Given the description of an element on the screen output the (x, y) to click on. 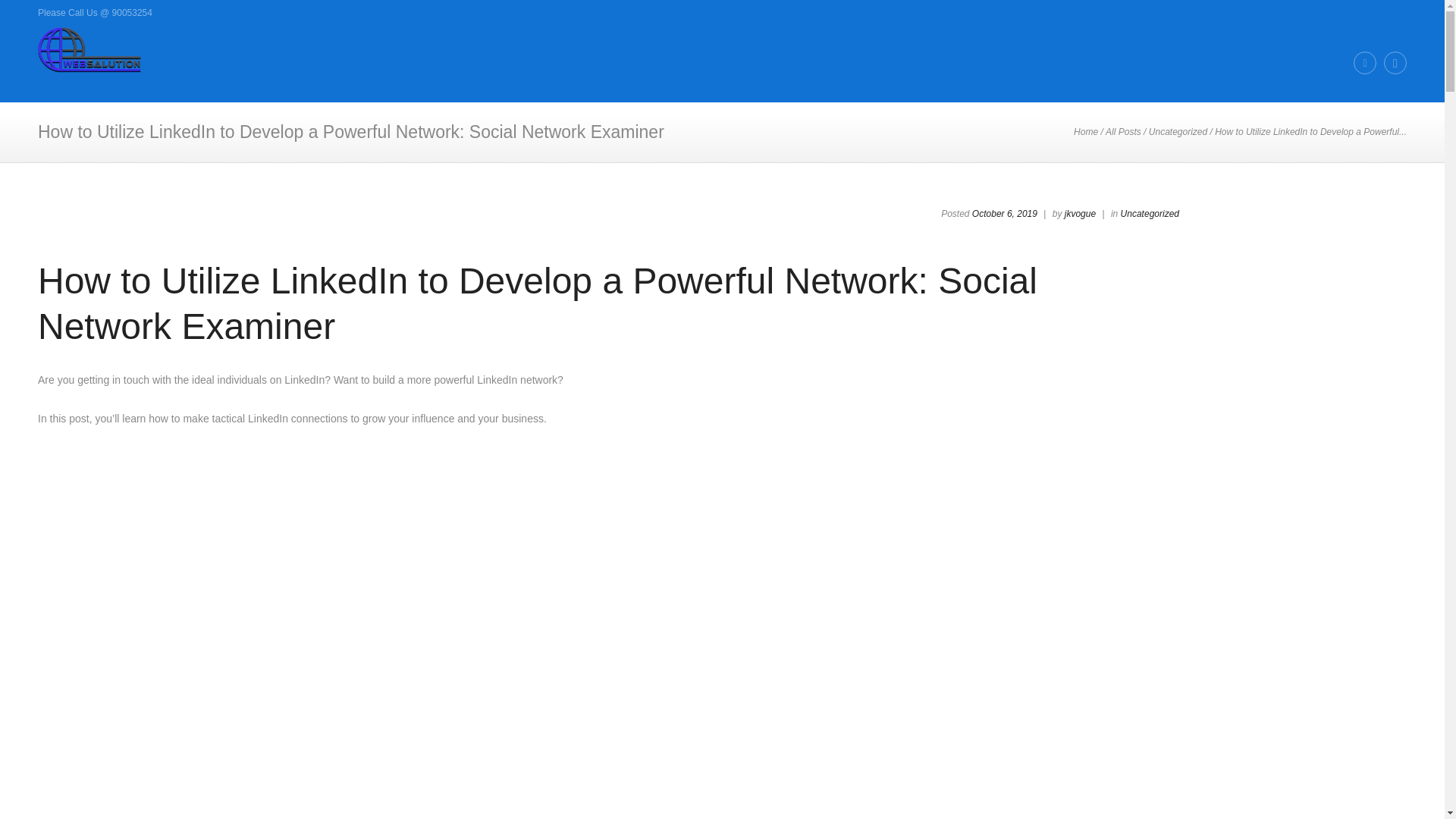
All Posts (1123, 132)
Home (1085, 132)
jkvogue (1080, 213)
Uncategorized (1177, 132)
October 6, 2019 (1004, 213)
Uncategorized (1150, 213)
